Given the description of an element on the screen output the (x, y) to click on. 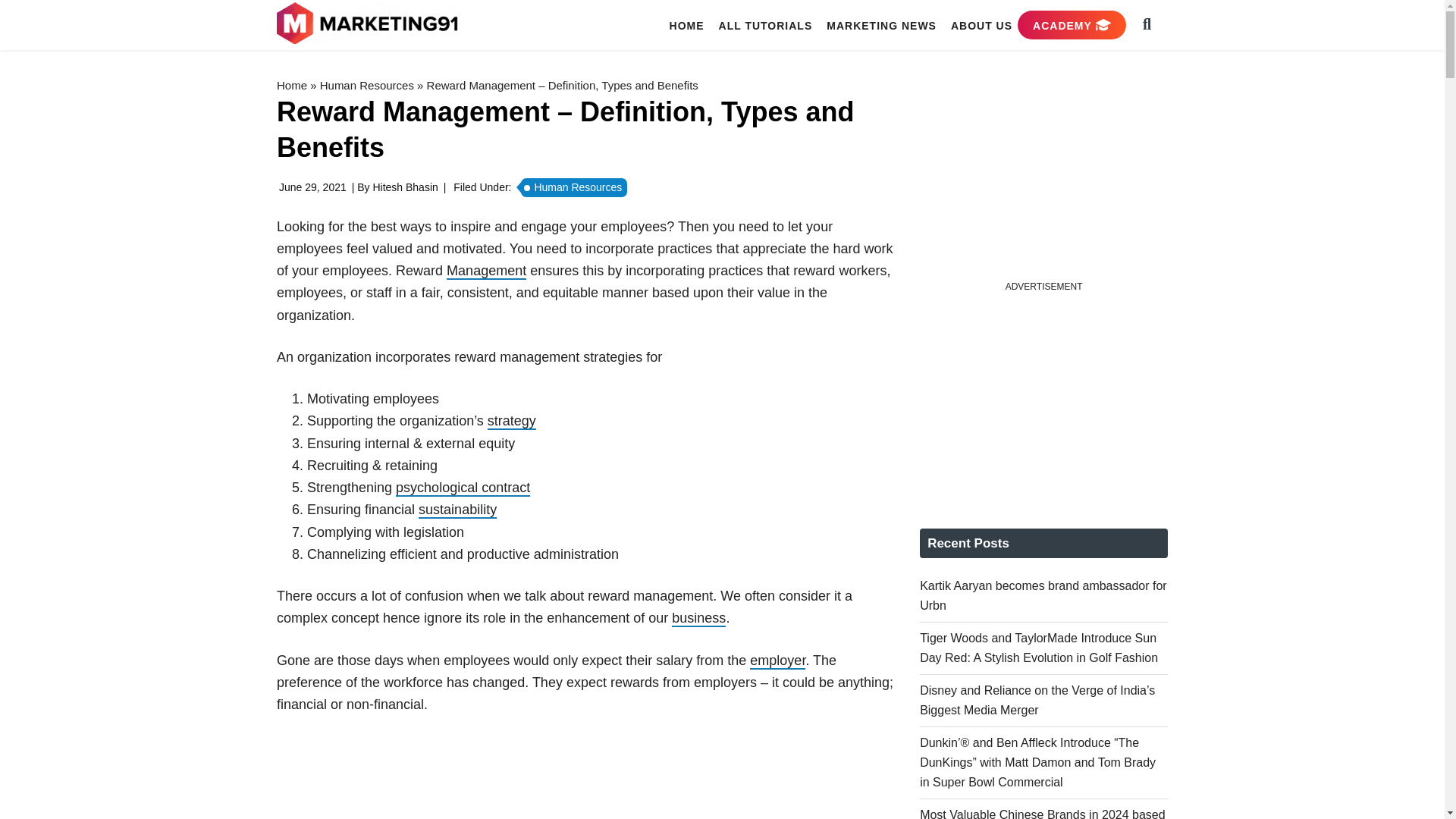
HOME (687, 24)
ALL TUTORIALS (766, 24)
MARKETING91 (369, 24)
